Given the description of an element on the screen output the (x, y) to click on. 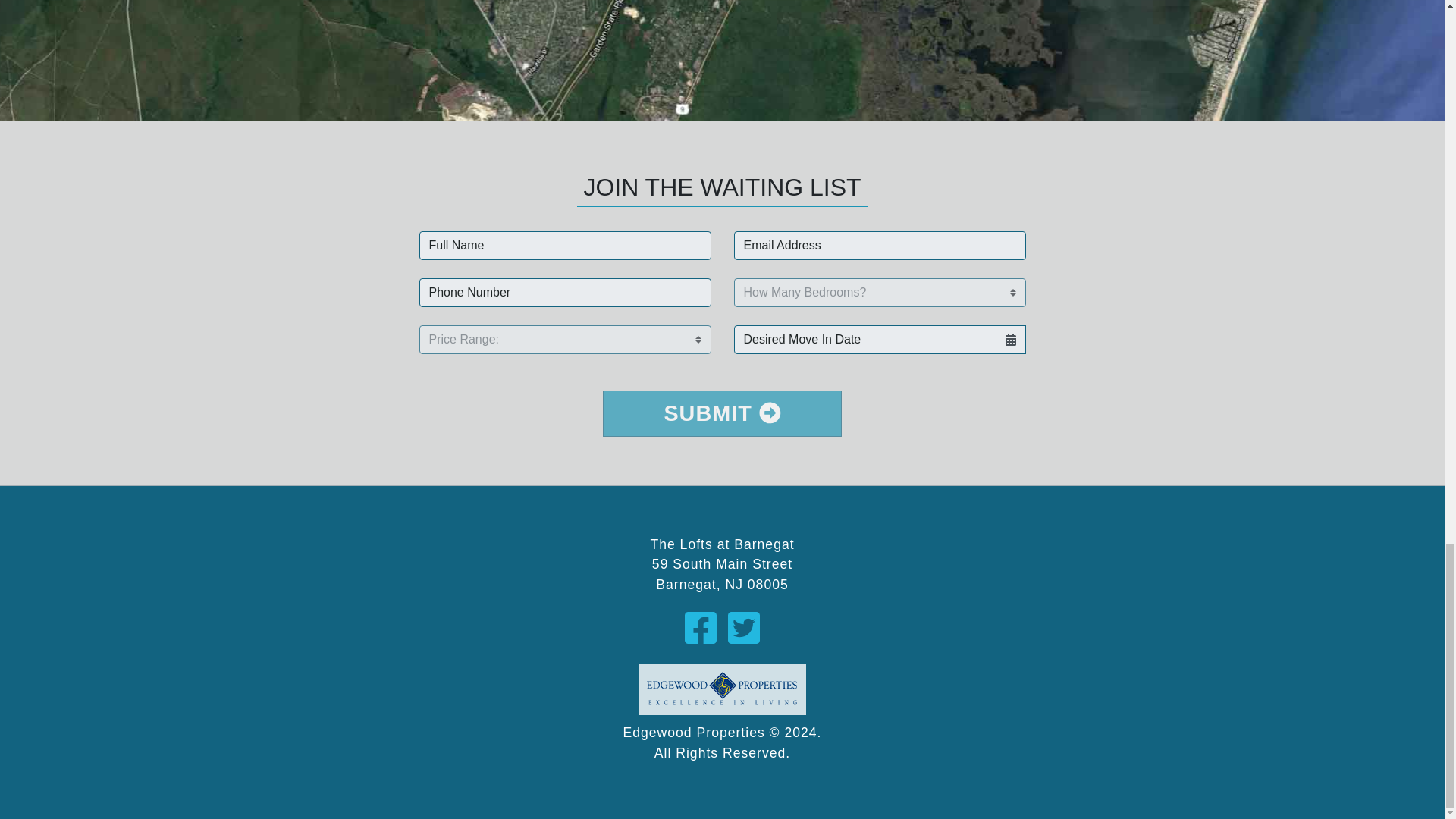
The Lofts at Barnegat Facebook (705, 629)
SUBMIT (722, 413)
